Given the description of an element on the screen output the (x, y) to click on. 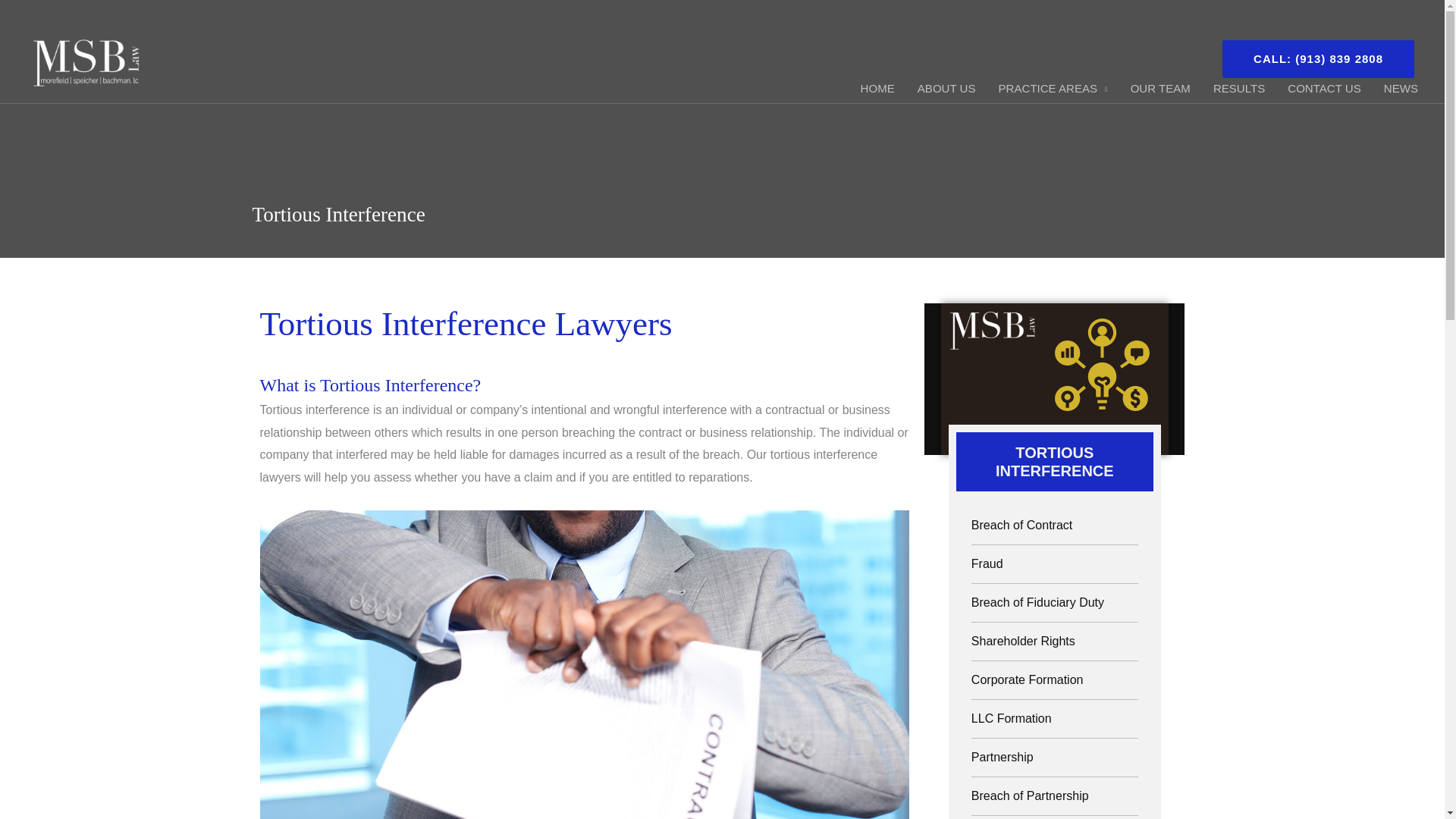
NEWS (1401, 89)
RESULTS (1239, 89)
PRACTICE AREAS (1053, 89)
ABOUT US (946, 89)
OUR TEAM (1160, 89)
HOME (876, 89)
CONTACT US (1324, 89)
